Given the description of an element on the screen output the (x, y) to click on. 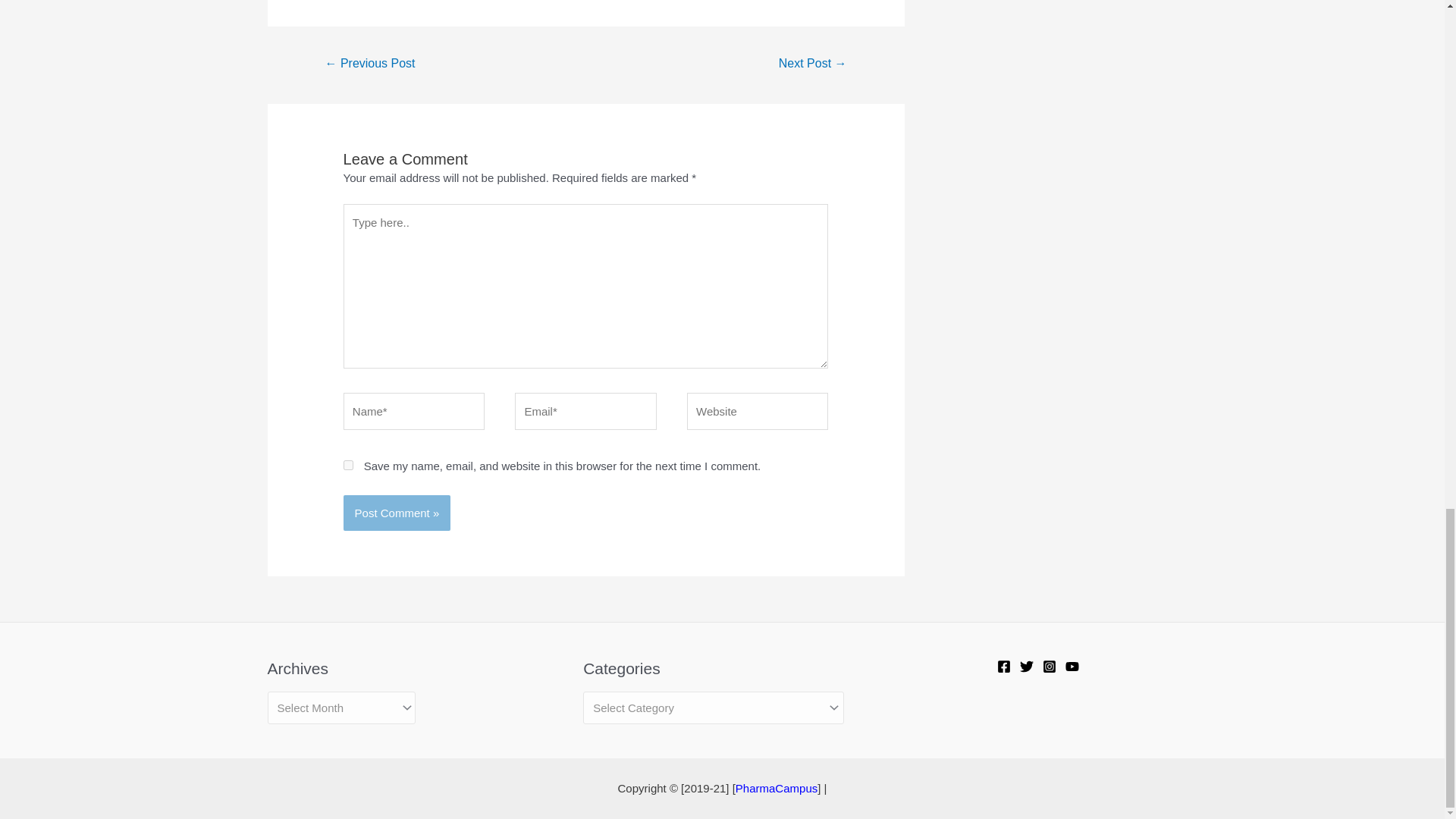
yes (348, 465)
